Given the description of an element on the screen output the (x, y) to click on. 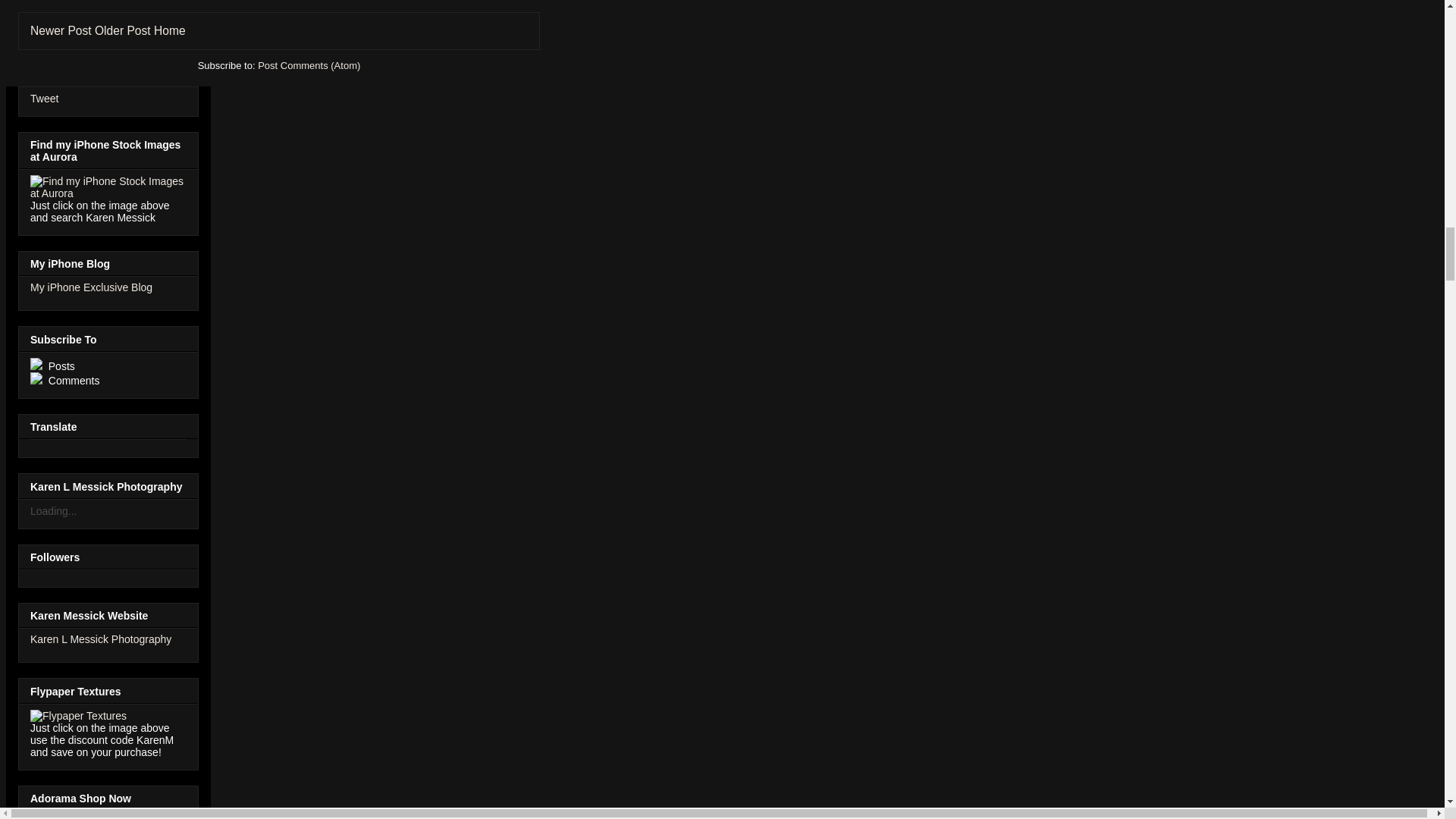
Tweet (44, 98)
Home (170, 30)
Older Post (122, 30)
Newer Post (60, 30)
My iPhone Exclusive Blog (91, 287)
Newer Post (60, 30)
Older Post (122, 30)
